Given the description of an element on the screen output the (x, y) to click on. 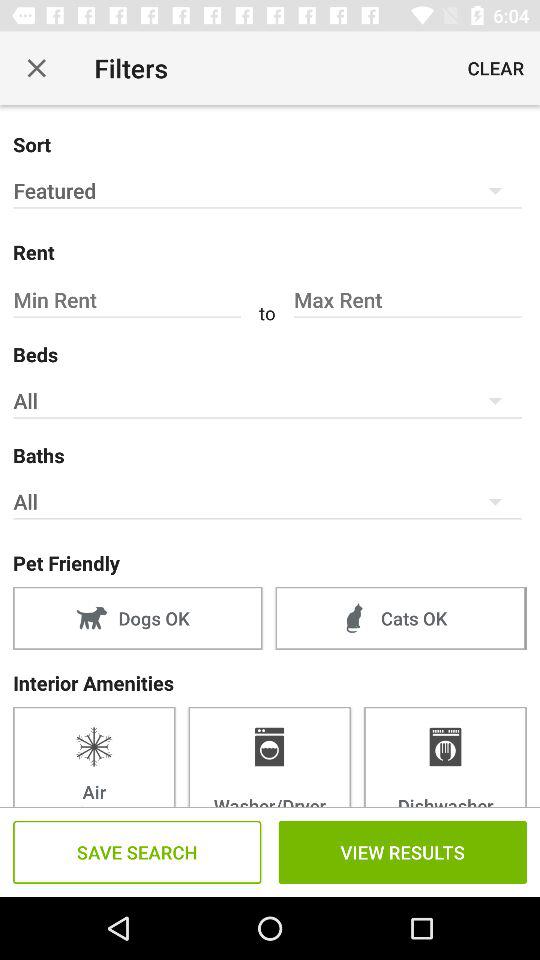
open the item to the right of dogs ok (400, 617)
